Given the description of an element on the screen output the (x, y) to click on. 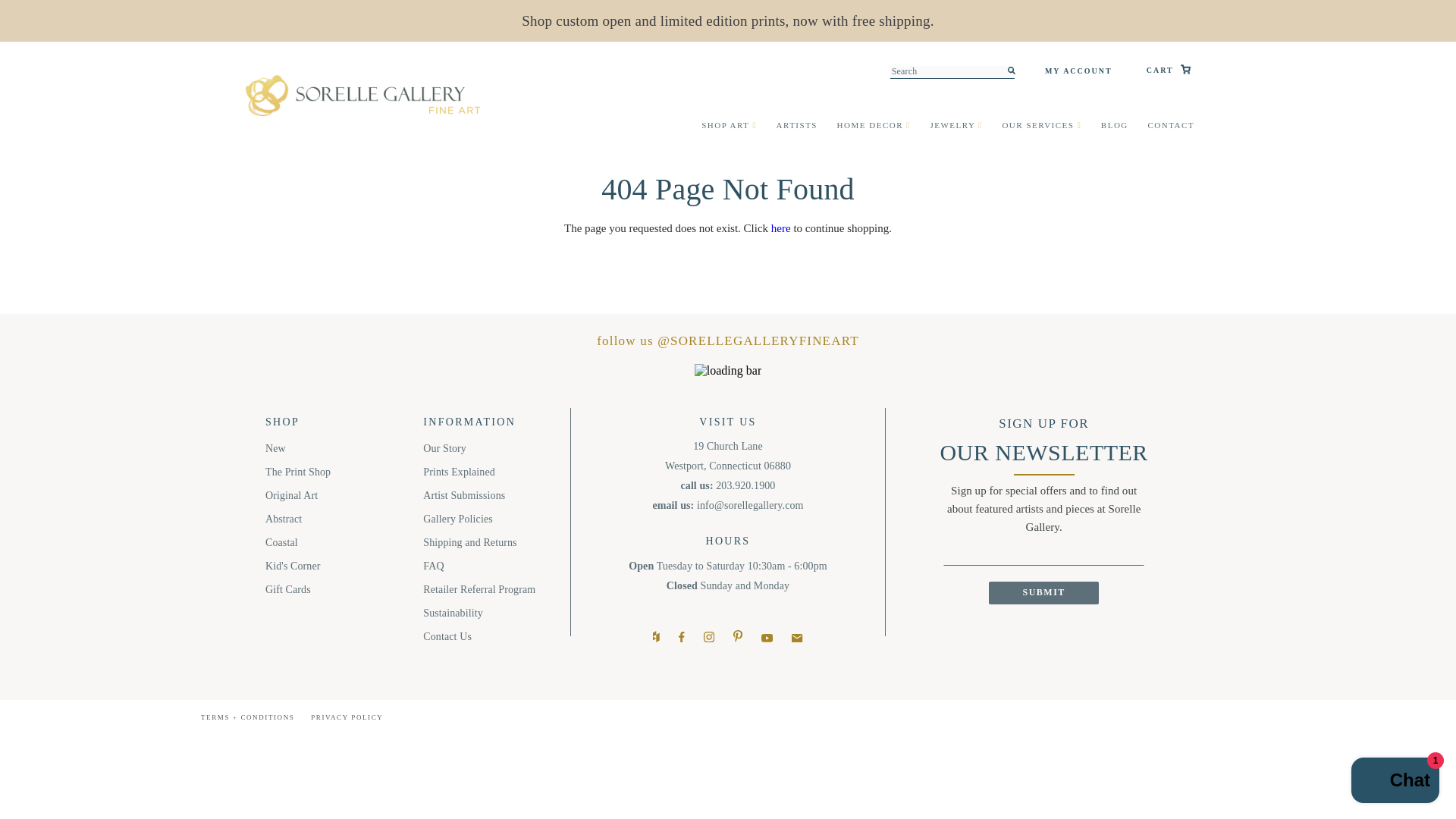
Submit (1043, 593)
CART (1169, 71)
Sorelle Gallery Fine Art on YouTube (767, 638)
MY ACCOUNT (1096, 71)
Sorelle Gallery Fine Art on Instagram (708, 638)
SHOP ART (729, 125)
Sorelle Gallery Fine Art on Email, (797, 638)
